Given the description of an element on the screen output the (x, y) to click on. 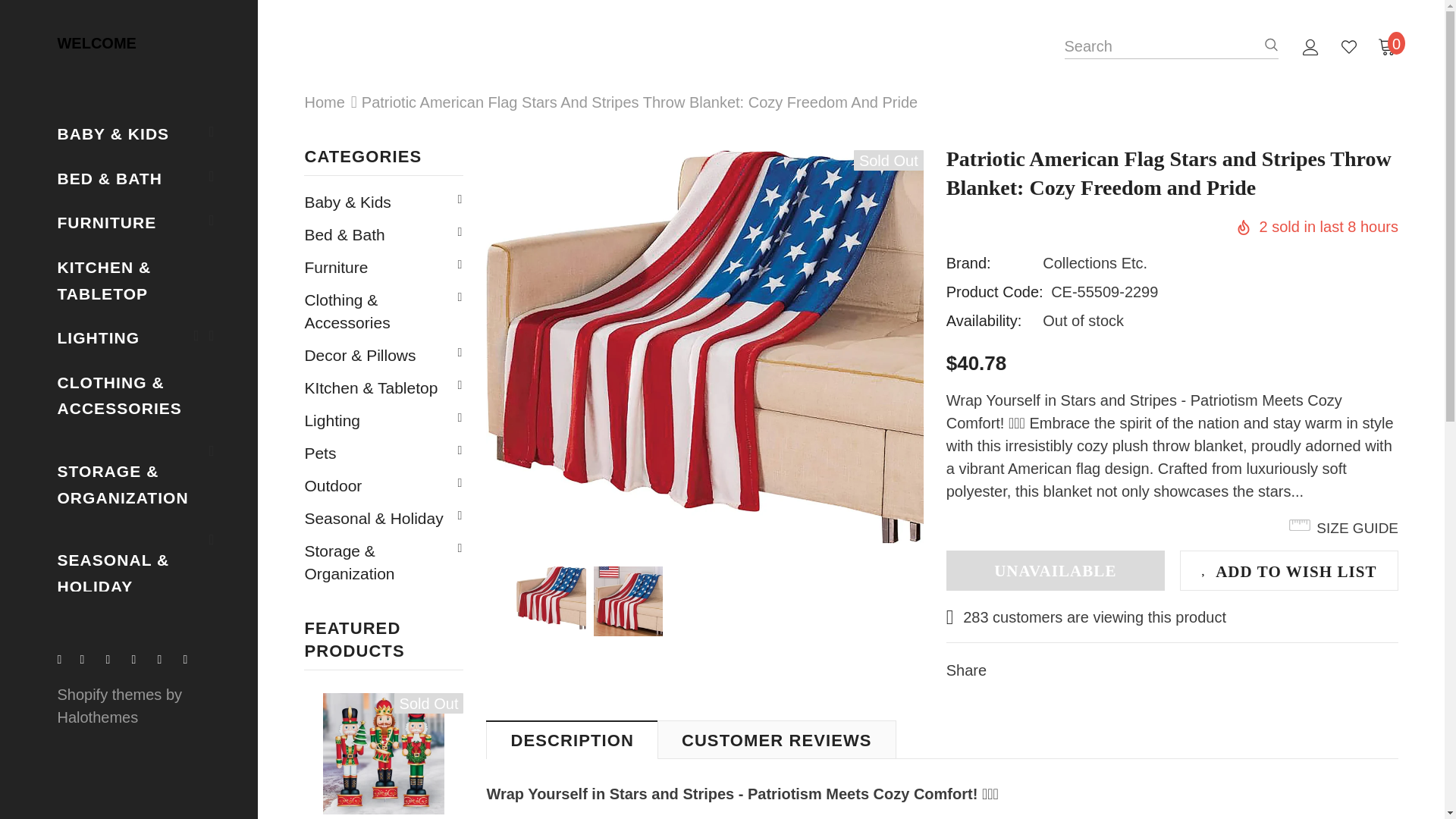
LIGHTING (97, 337)
Instagram (140, 659)
Unavailable (1055, 570)
WELCOME (75, 43)
Facebook (65, 659)
Cart Icon (1386, 45)
User Icon (1311, 47)
0 (1386, 45)
FURNITURE (105, 221)
Pinterest (166, 659)
